Given the description of an element on the screen output the (x, y) to click on. 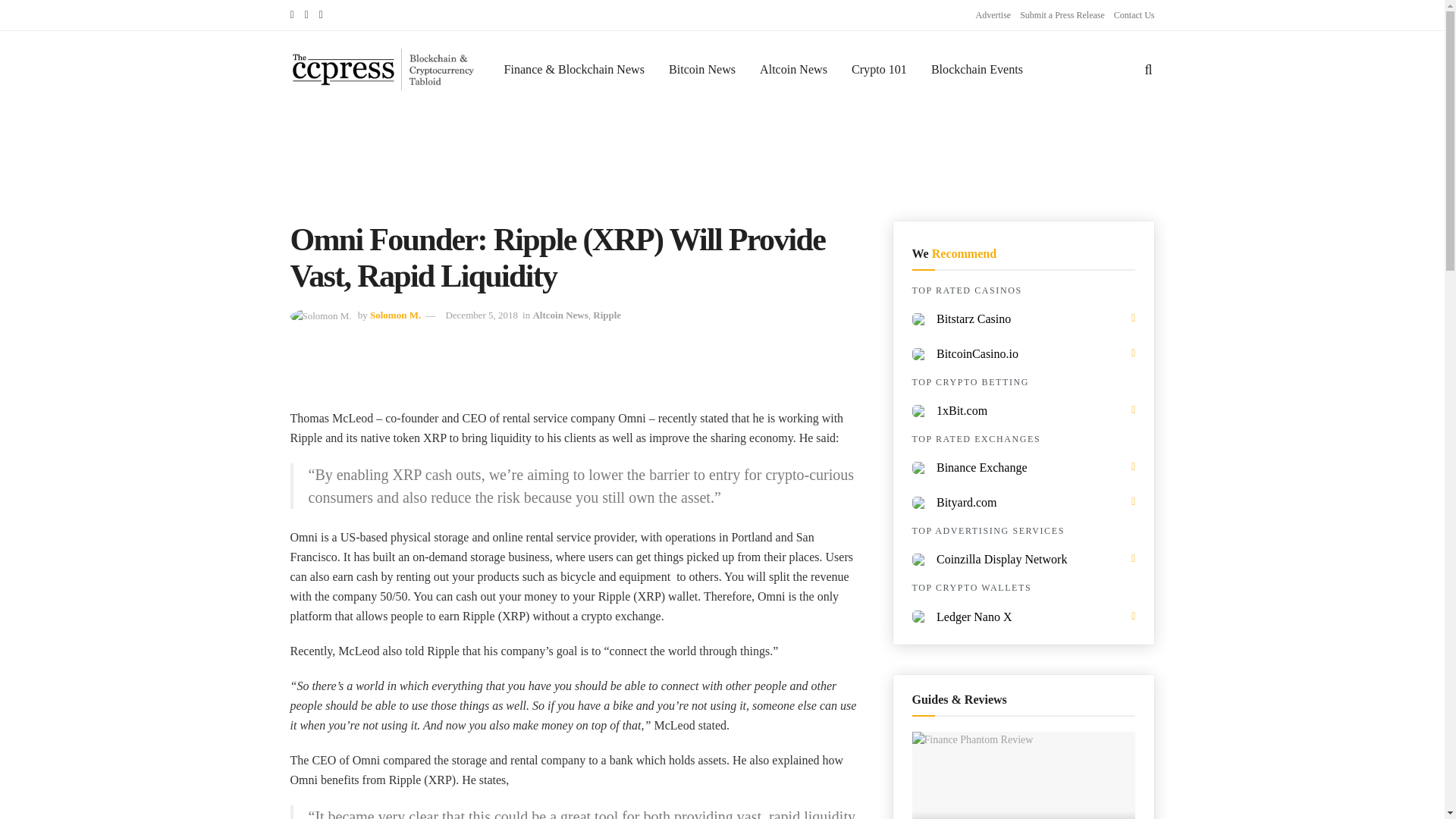
Bitcoin News (702, 68)
Submit a Press Release (1062, 15)
Altcoin News (794, 68)
Contact Us (1133, 15)
Advertise (993, 15)
